Given the description of an element on the screen output the (x, y) to click on. 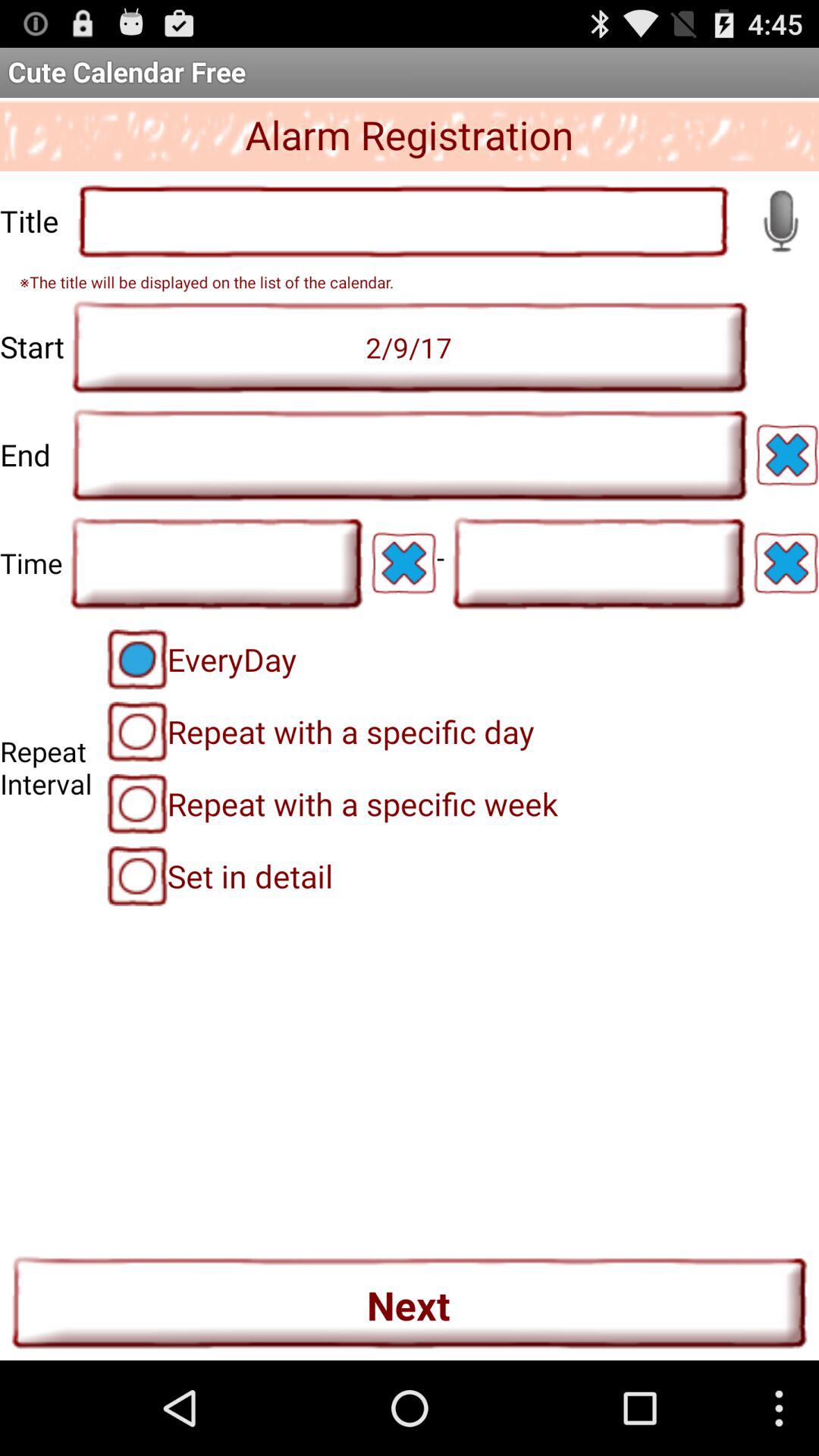
clear box (786, 562)
